Given the description of an element on the screen output the (x, y) to click on. 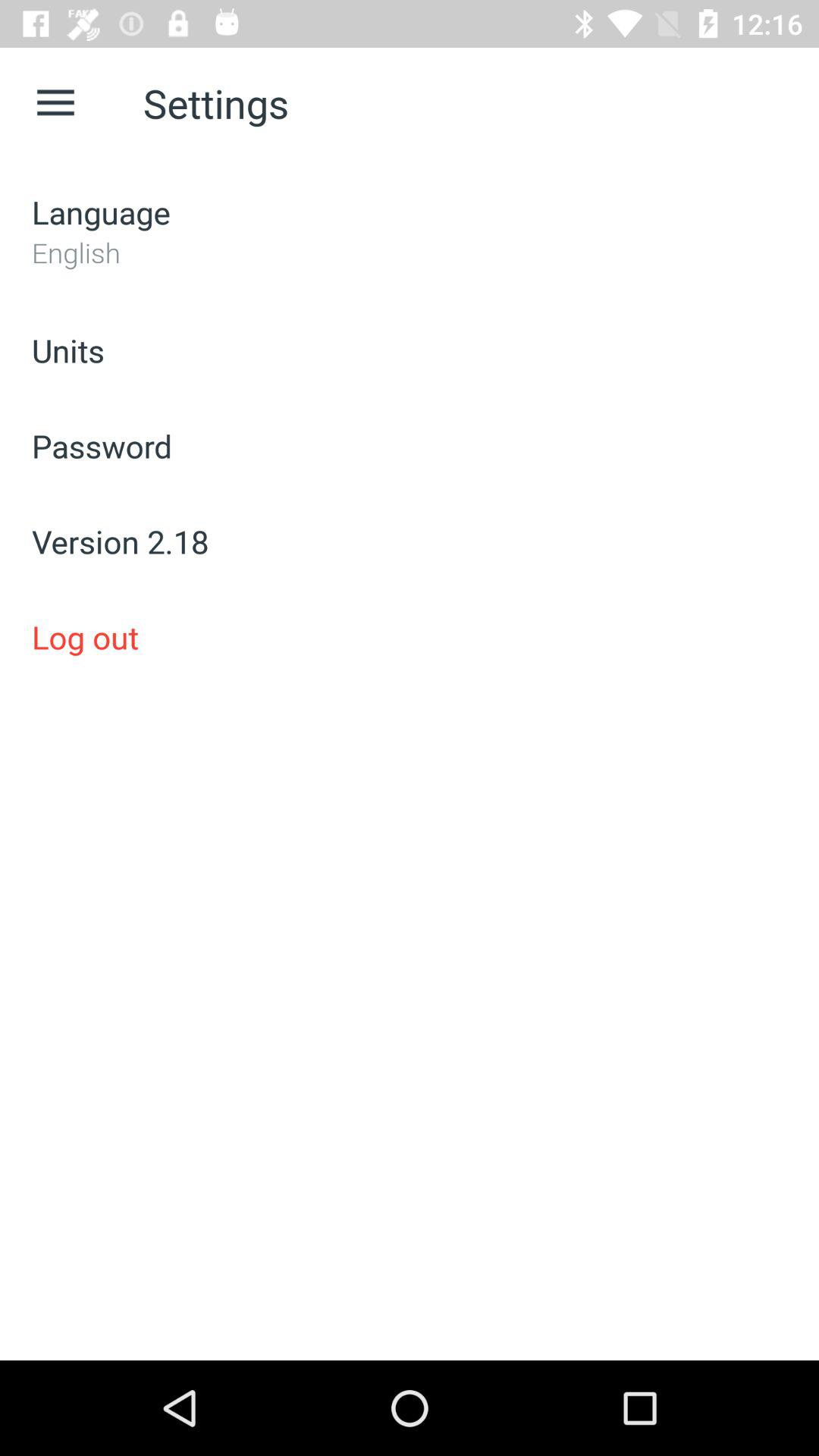
choose app next to settings (55, 103)
